Given the description of an element on the screen output the (x, y) to click on. 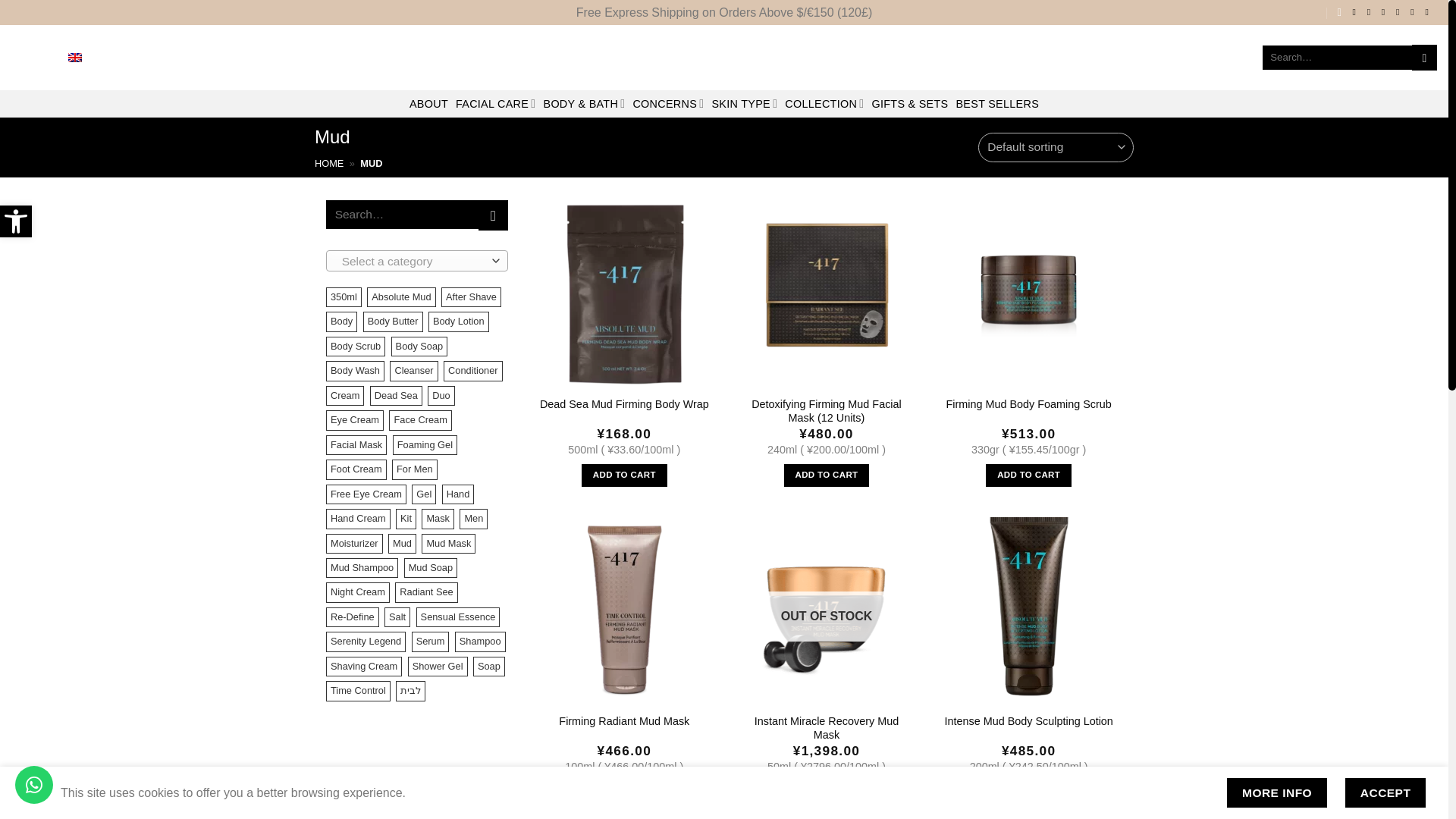
MINUS 417 - Natural Cosmetics (724, 57)
Accessibility Tools (15, 221)
ENGLISH (54, 57)
Search (1424, 57)
Accessibility Tools (16, 221)
Cart (16, 221)
